Given the description of an element on the screen output the (x, y) to click on. 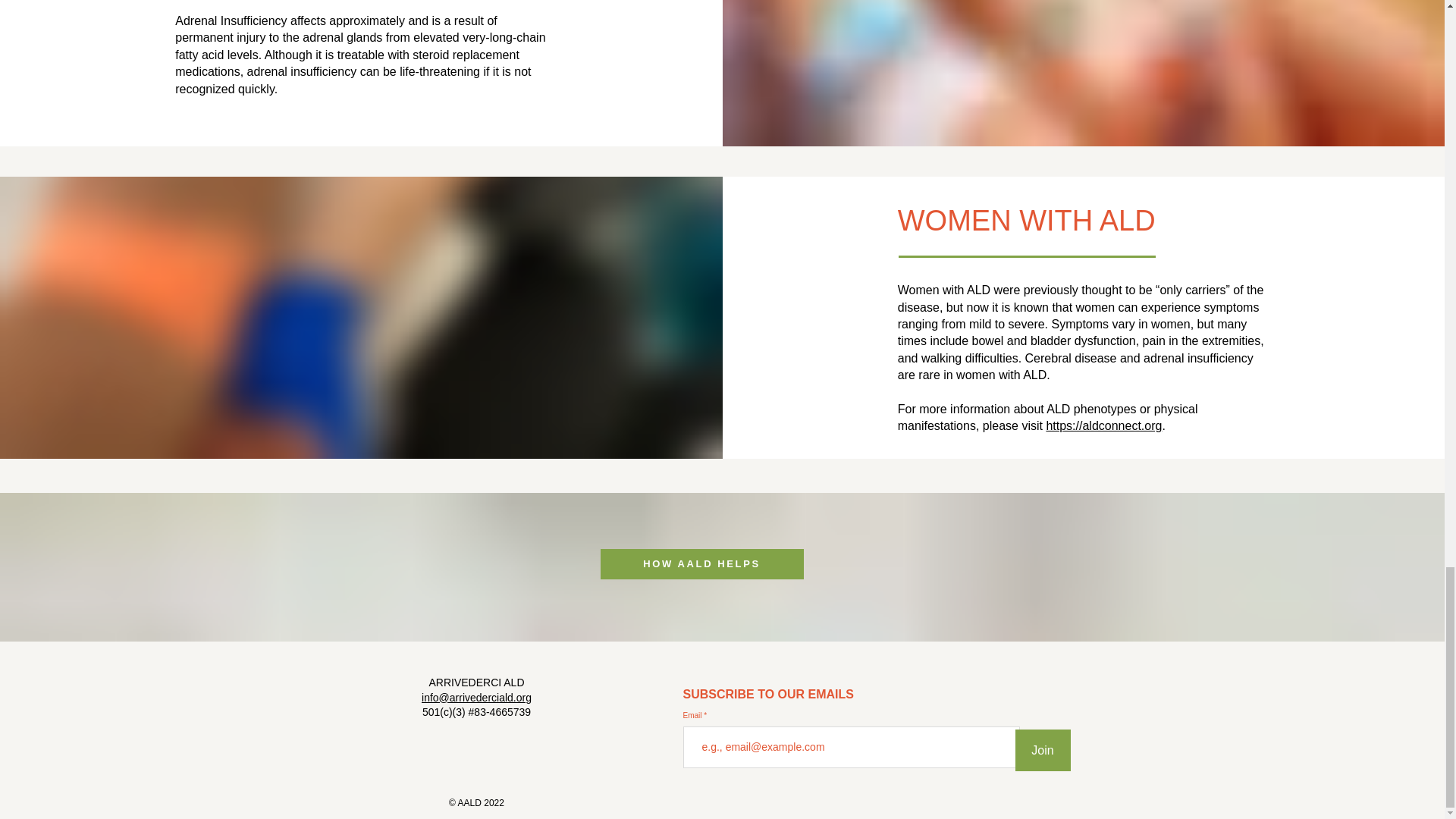
HOW AALD HELPS (701, 563)
Join (1042, 750)
